Given the description of an element on the screen output the (x, y) to click on. 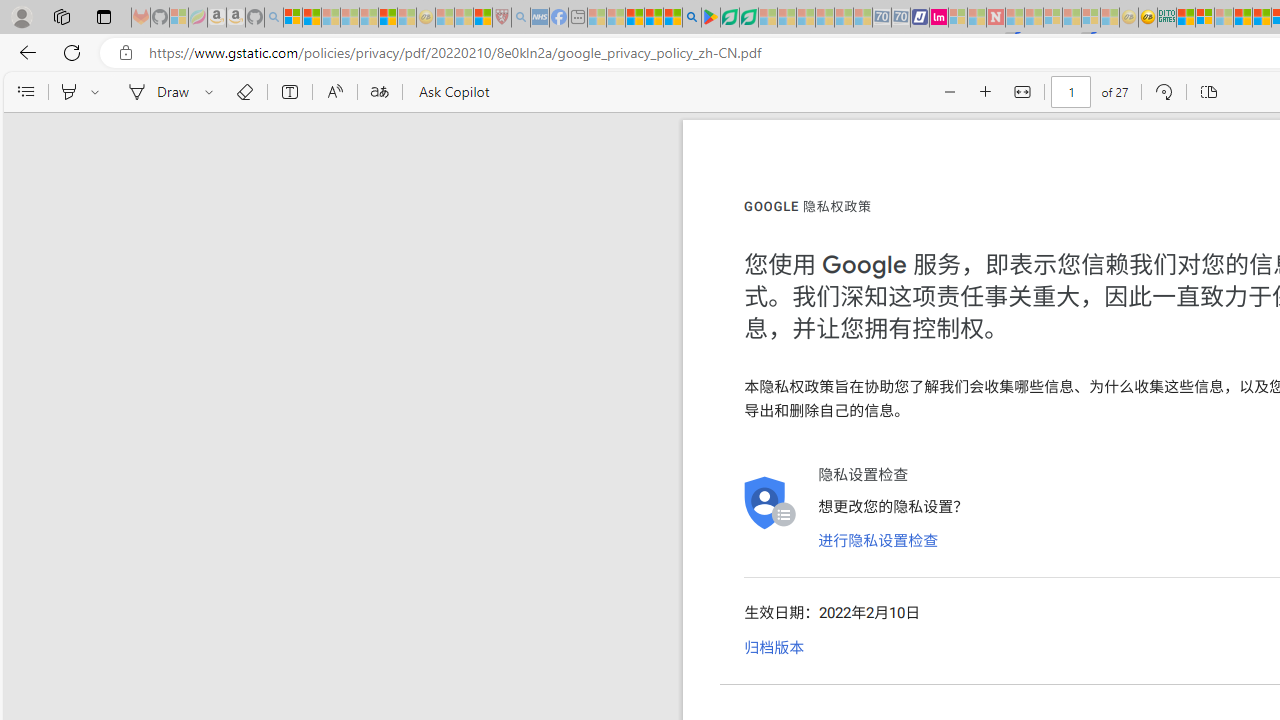
Select a highlight color (98, 92)
Jobs - lastminute.com Investor Portal (939, 17)
Expert Portfolios (1242, 17)
Zoom out (Ctrl+Minus key) (949, 92)
